Given the description of an element on the screen output the (x, y) to click on. 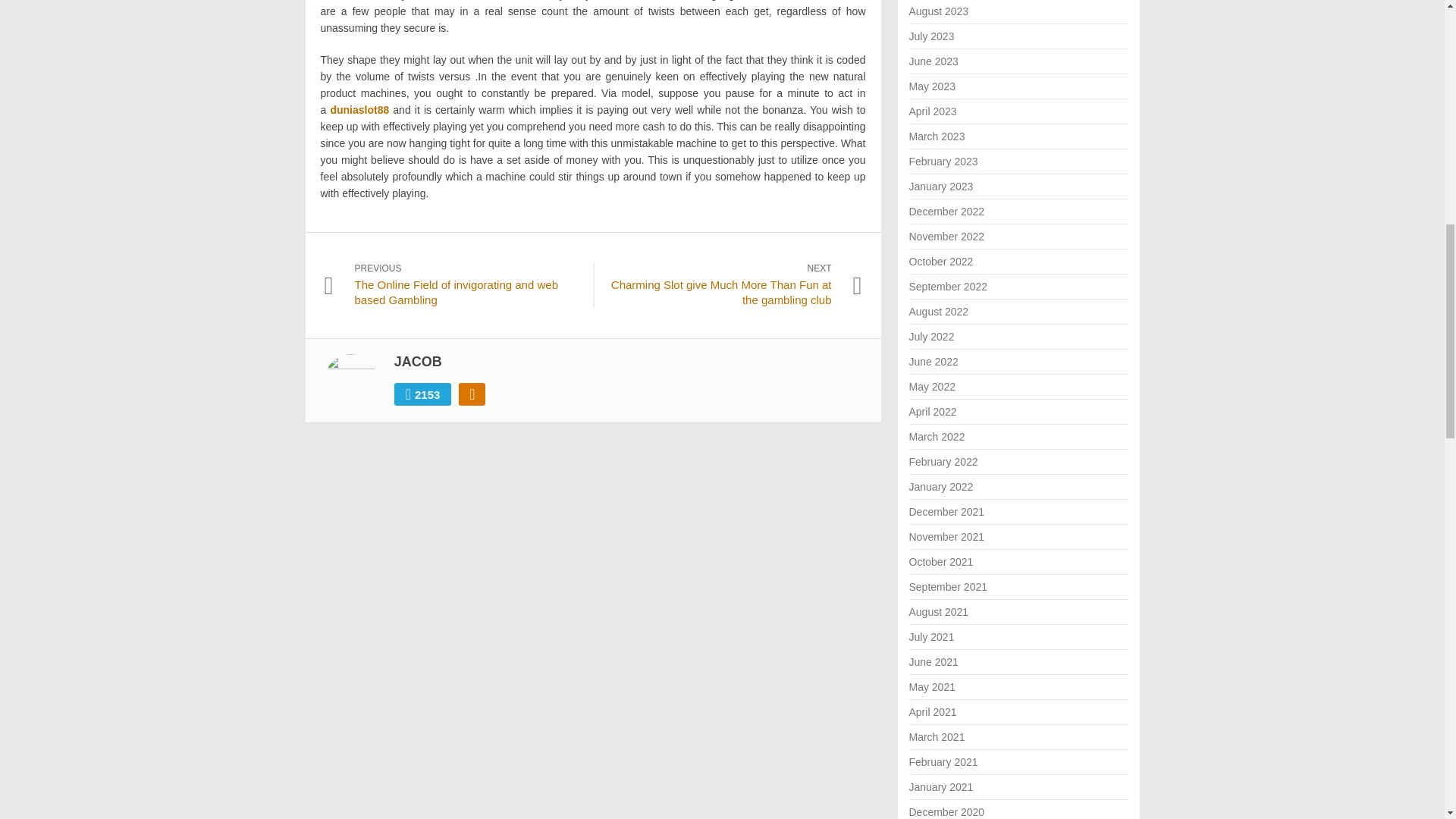
2153 Posts (422, 394)
Posts by Jacob (418, 361)
August 2023 (938, 10)
July 2023 (930, 36)
Subscribe RSS Feed (471, 394)
December 2022 (946, 211)
May 2023 (931, 86)
duniaslot88 (359, 110)
April 2023 (932, 111)
February 2023 (942, 161)
JACOB (418, 361)
January 2023 (940, 186)
2153 (422, 394)
June 2023 (933, 61)
